Given the description of an element on the screen output the (x, y) to click on. 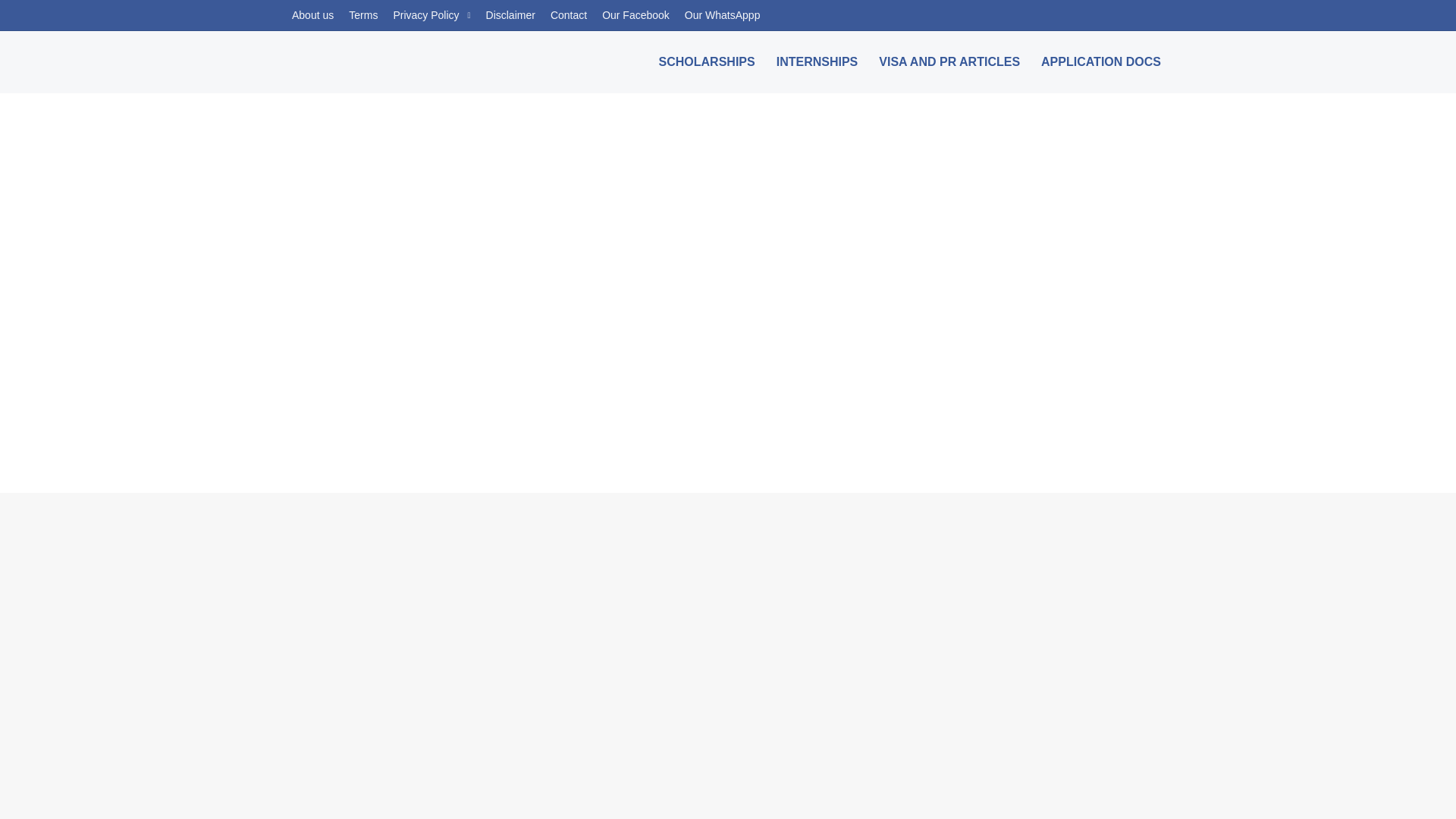
Privacy Policy (431, 15)
INTERNSHIPS (817, 61)
APPLICATION DOCS (1101, 61)
VISA AND PR ARTICLES (948, 61)
Our WhatsAppp (722, 15)
Our Facebook (635, 15)
Disclaimer (511, 15)
SCHOLARSHIPS (706, 61)
Terms (362, 15)
Contact (568, 15)
About us (311, 15)
